Given the description of an element on the screen output the (x, y) to click on. 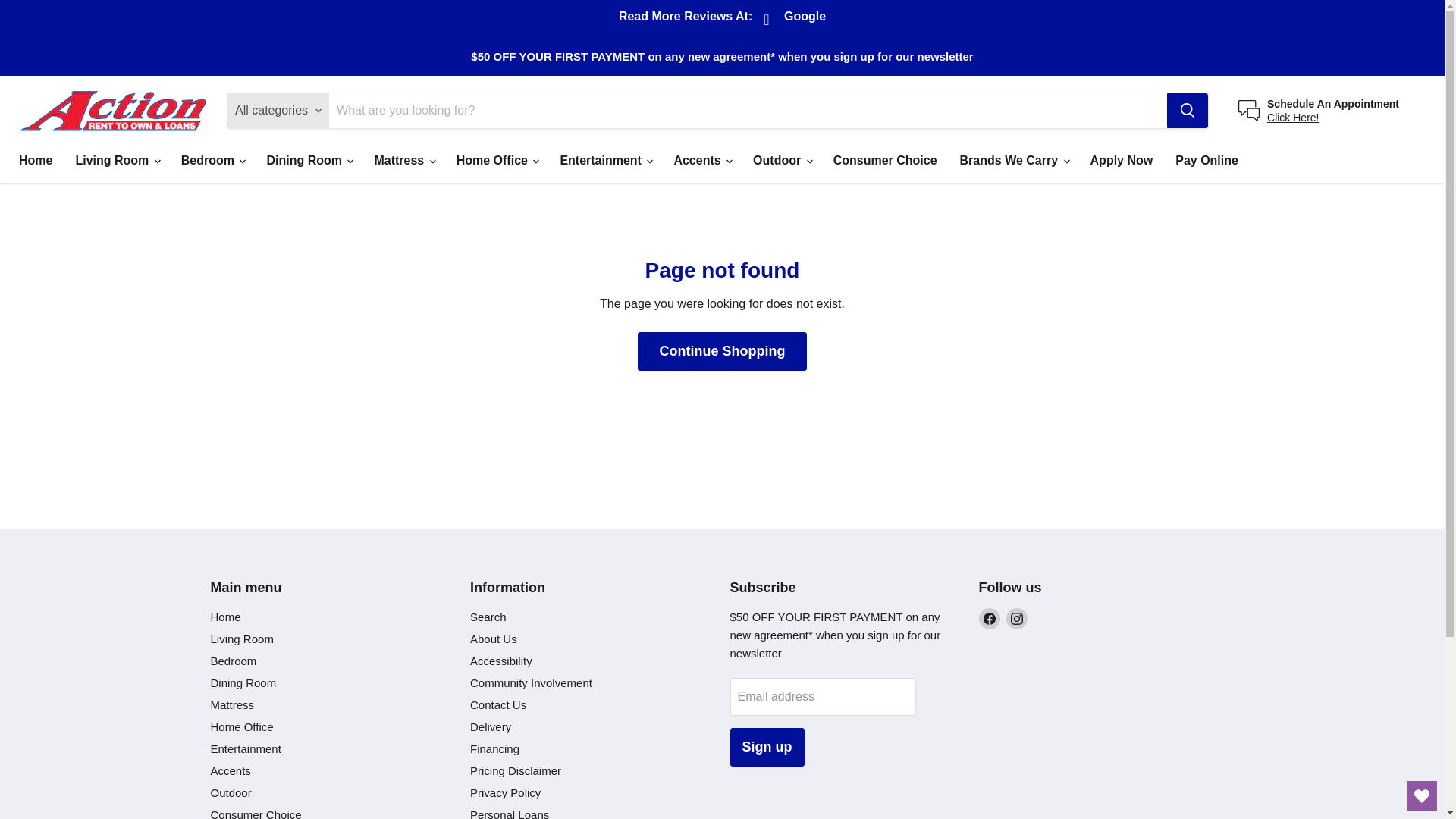
Instagram (1016, 618)
Google (796, 20)
Home (35, 160)
Click Here! (1292, 117)
Facebook (988, 618)
Read More Reviews At: (685, 18)
